Given the description of an element on the screen output the (x, y) to click on. 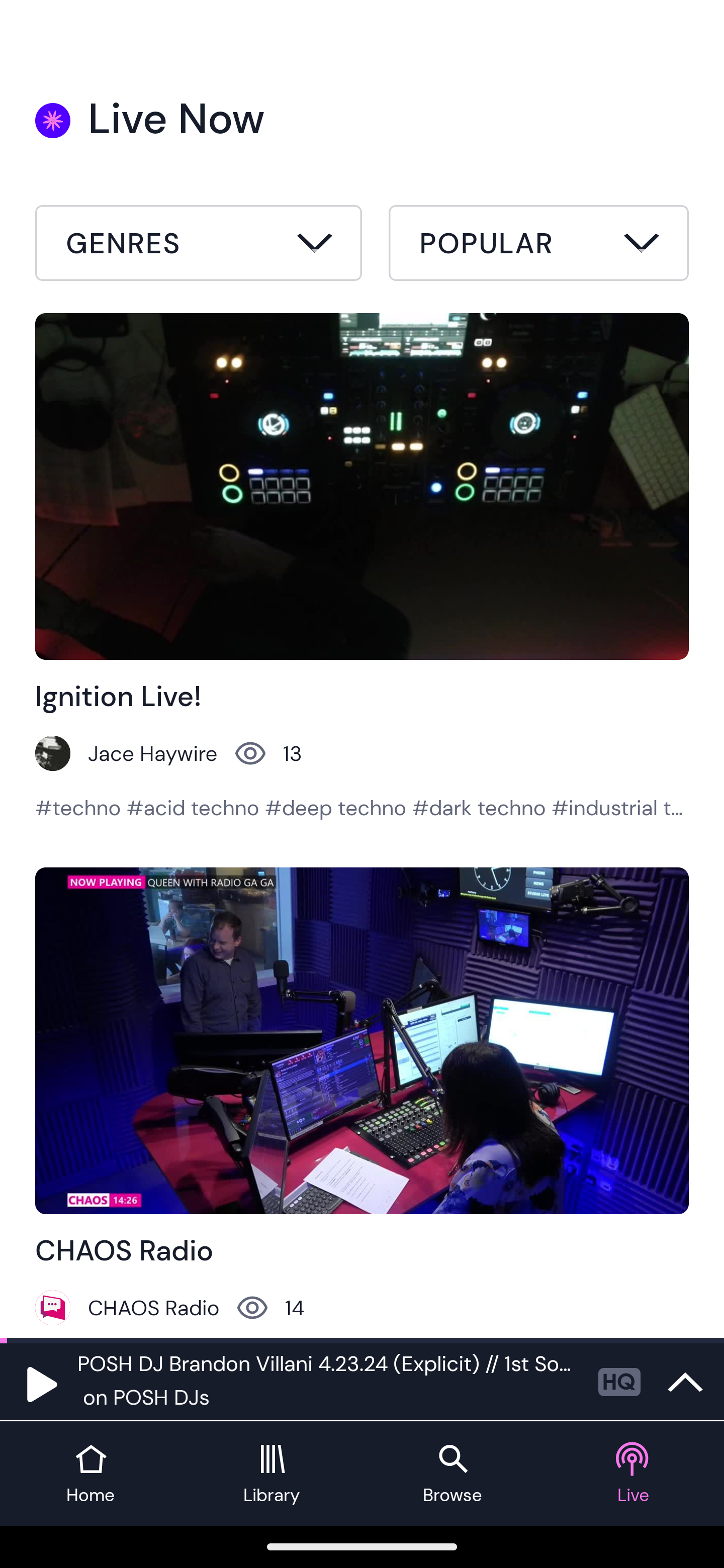
Filter by button All (198, 245)
Sort by button Popular (538, 245)
Home tab Home (90, 1473)
Library tab Library (271, 1473)
Browse tab Browse (452, 1473)
Live tab Live (633, 1473)
